Given the description of an element on the screen output the (x, y) to click on. 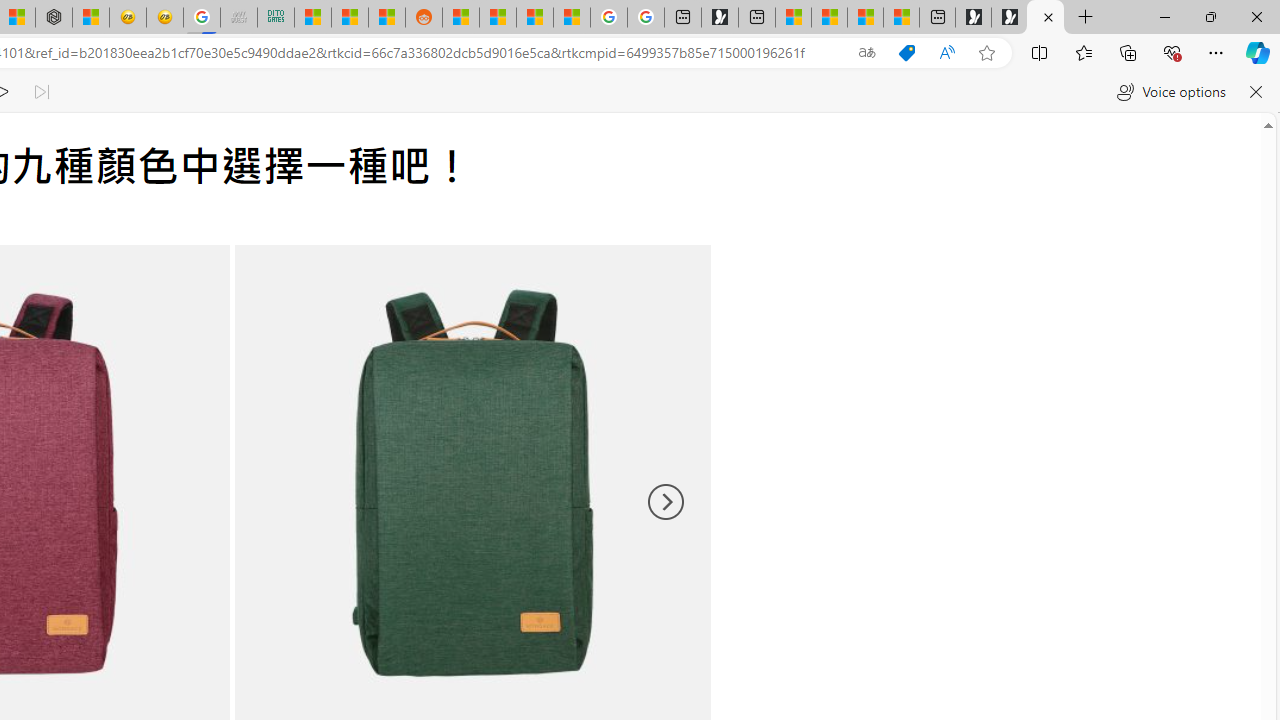
Voice options (1170, 92)
Next (664, 501)
Nordace - #1 Japanese Best-Seller - Siena Smart Backpack (53, 17)
